Given the description of an element on the screen output the (x, y) to click on. 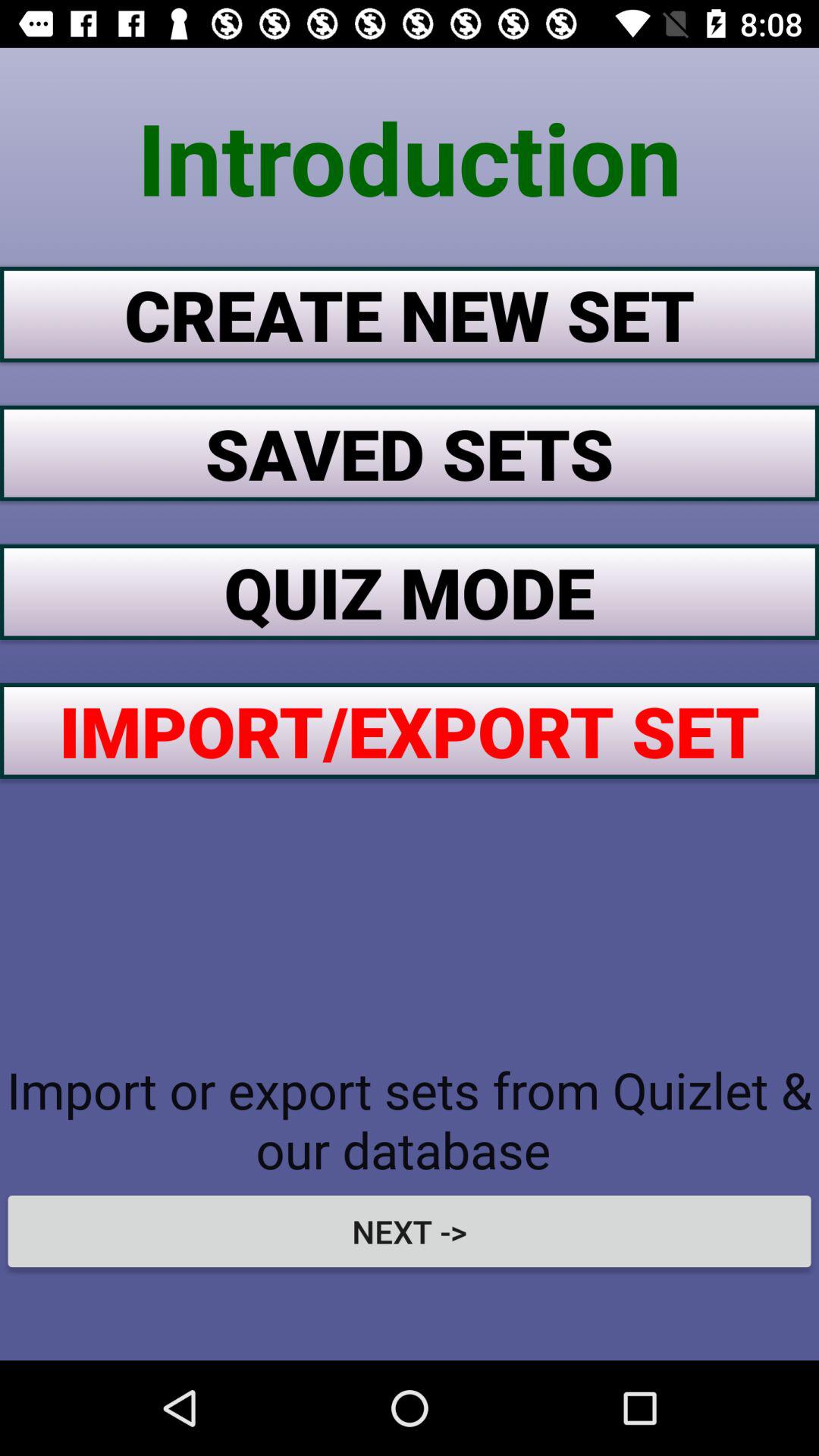
tap item below create new set icon (409, 453)
